Given the description of an element on the screen output the (x, y) to click on. 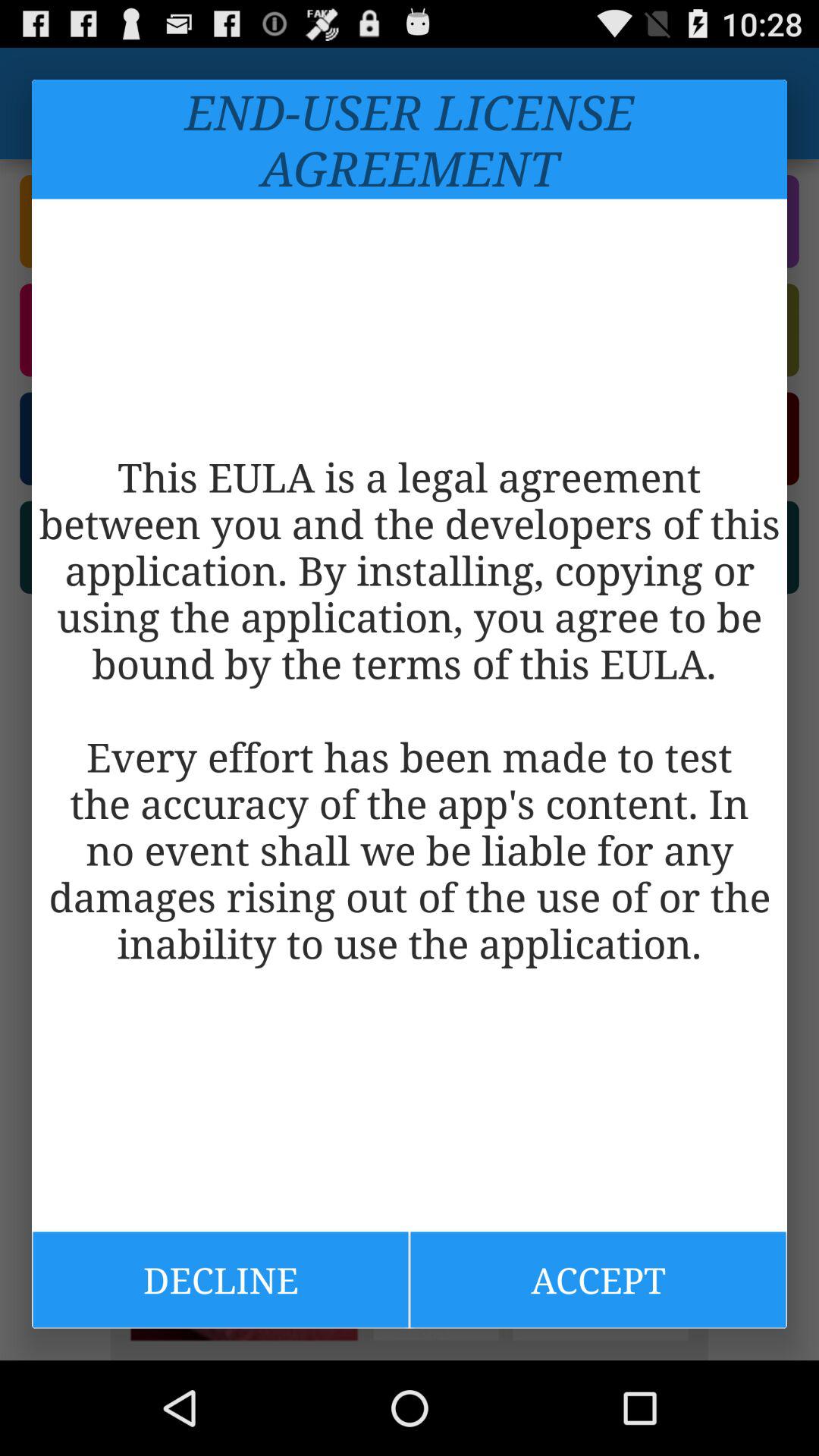
tap the icon to the left of the accept (220, 1279)
